Given the description of an element on the screen output the (x, y) to click on. 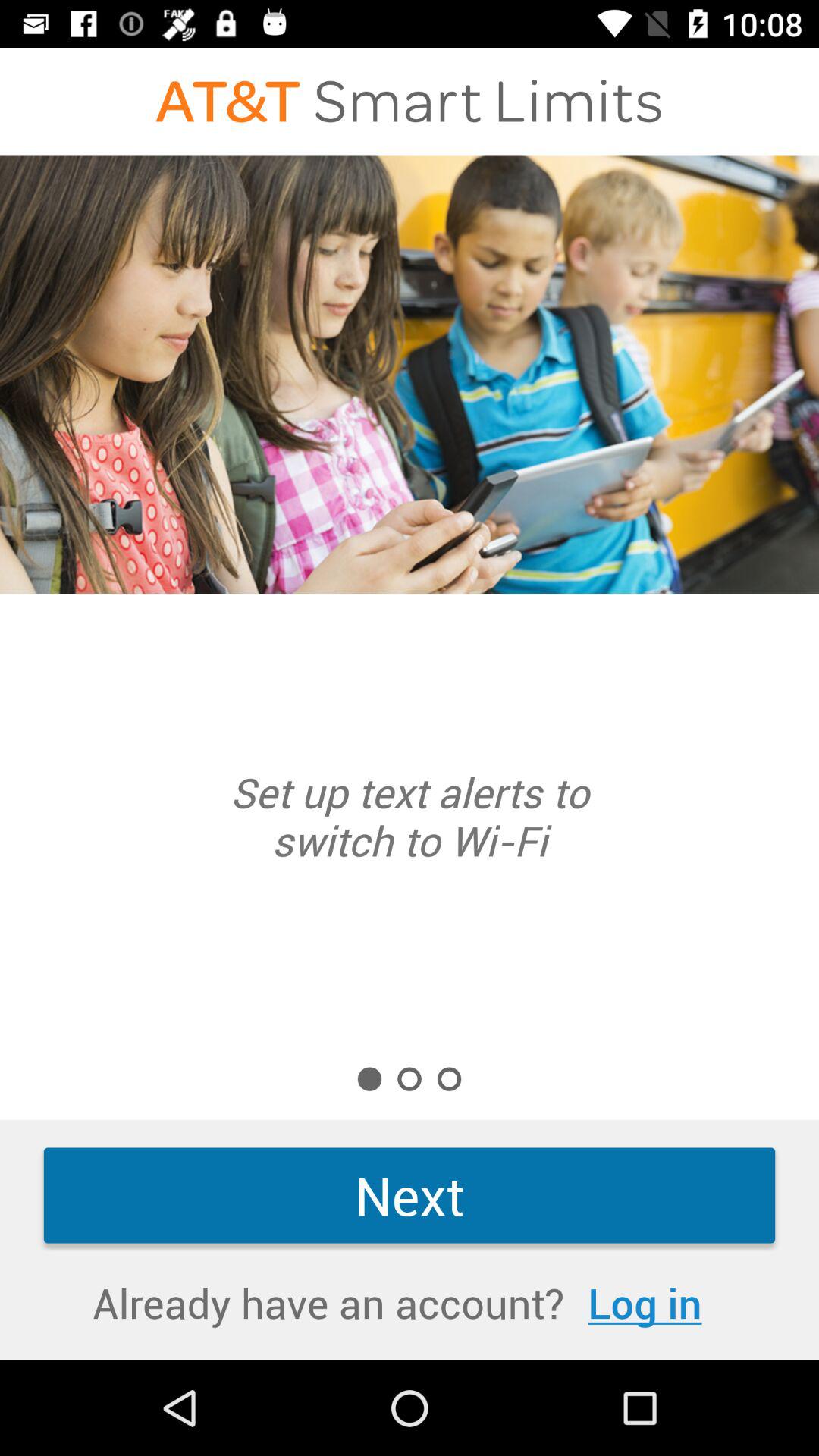
select item to the right of the already have an icon (644, 1302)
